Given the description of an element on the screen output the (x, y) to click on. 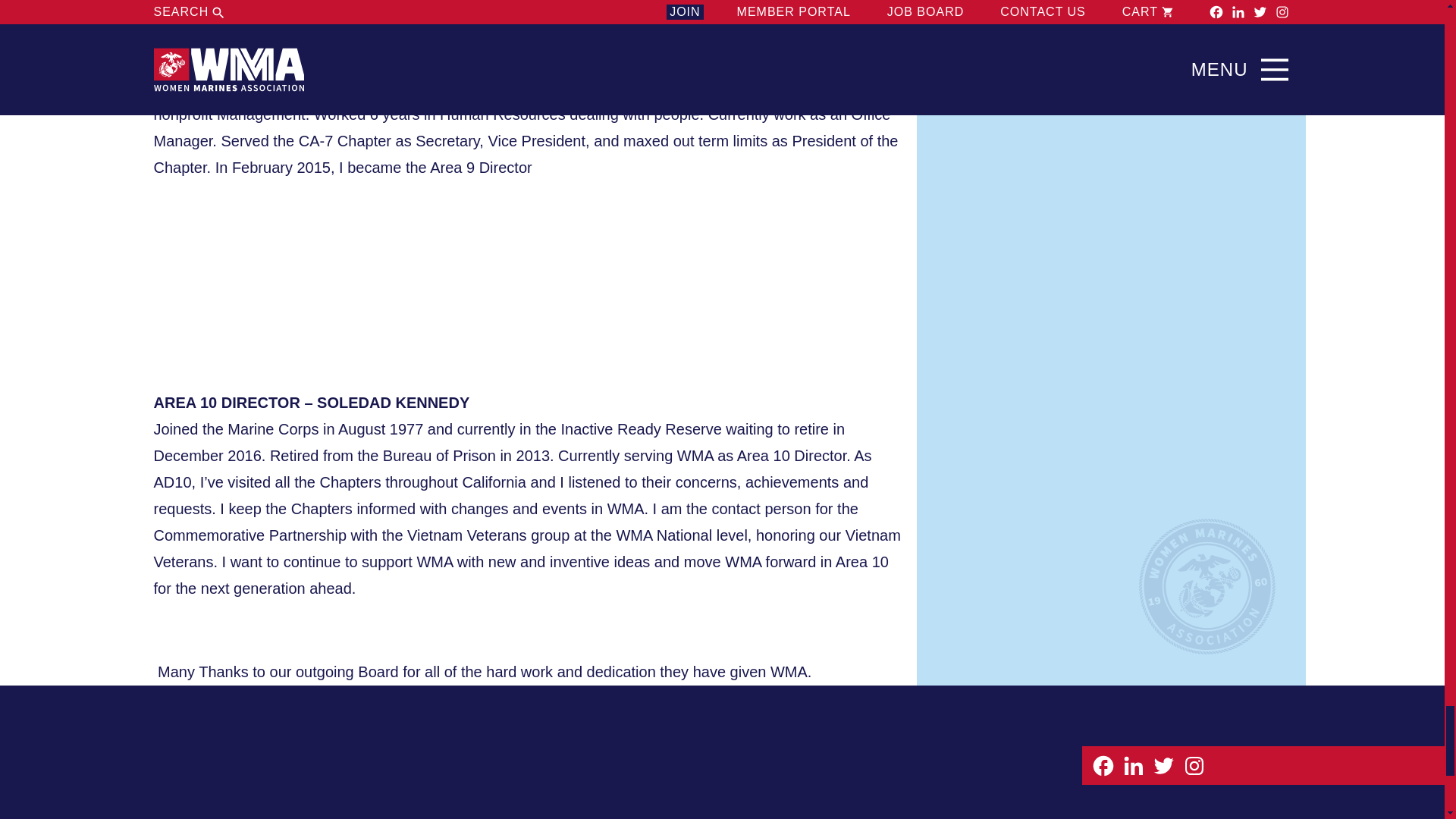
Twitter (1162, 764)
Instagram (1192, 764)
Facebook (1102, 764)
Linkedin (1132, 764)
Women Marines Association (265, 782)
